Given the description of an element on the screen output the (x, y) to click on. 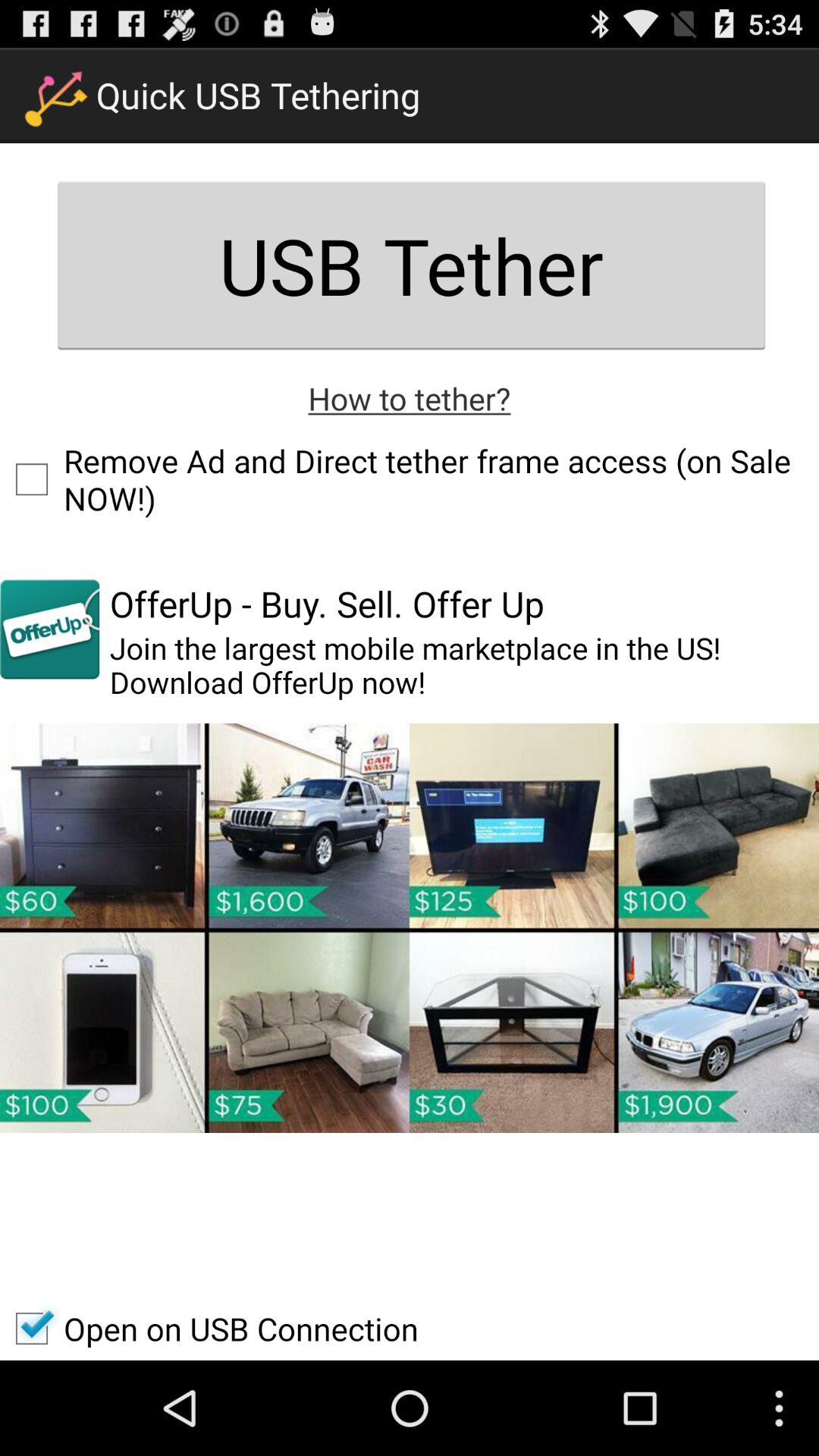
turn off remove ad and icon (409, 479)
